Given the description of an element on the screen output the (x, y) to click on. 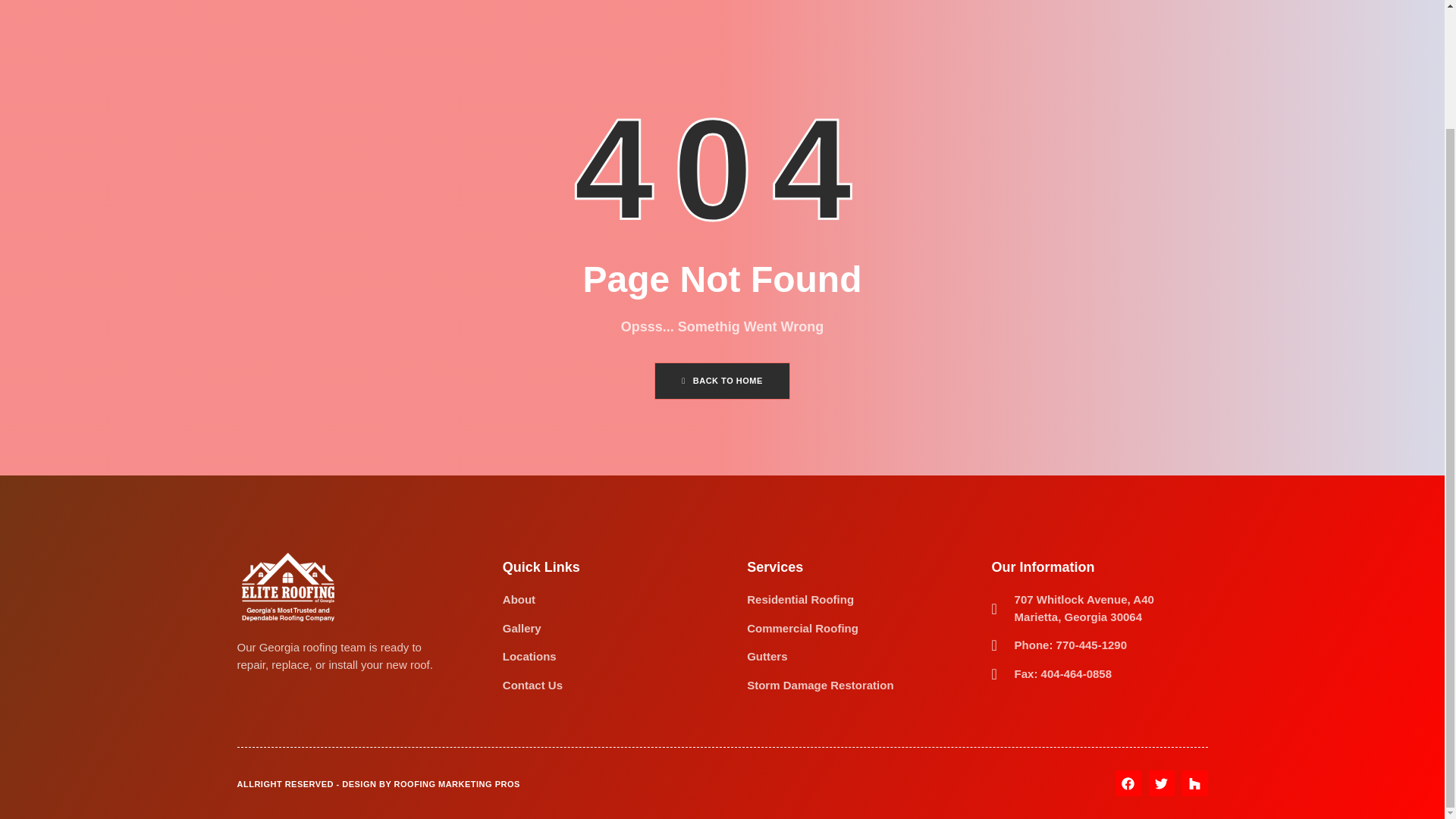
Phone: 770-445-1290 (1095, 645)
Gallery (532, 628)
Locations (532, 656)
ALLRIGHT RESERVED - DESIGN BY ROOFING MARKETING PROS (377, 783)
Gutters (819, 656)
Residential Roofing (819, 600)
707 Whitlock Avenue, A40 Marietta, Georgia 30064 (1095, 608)
Fax: 404-464-0858 (1095, 674)
Contact Us (532, 685)
About (532, 600)
